Given the description of an element on the screen output the (x, y) to click on. 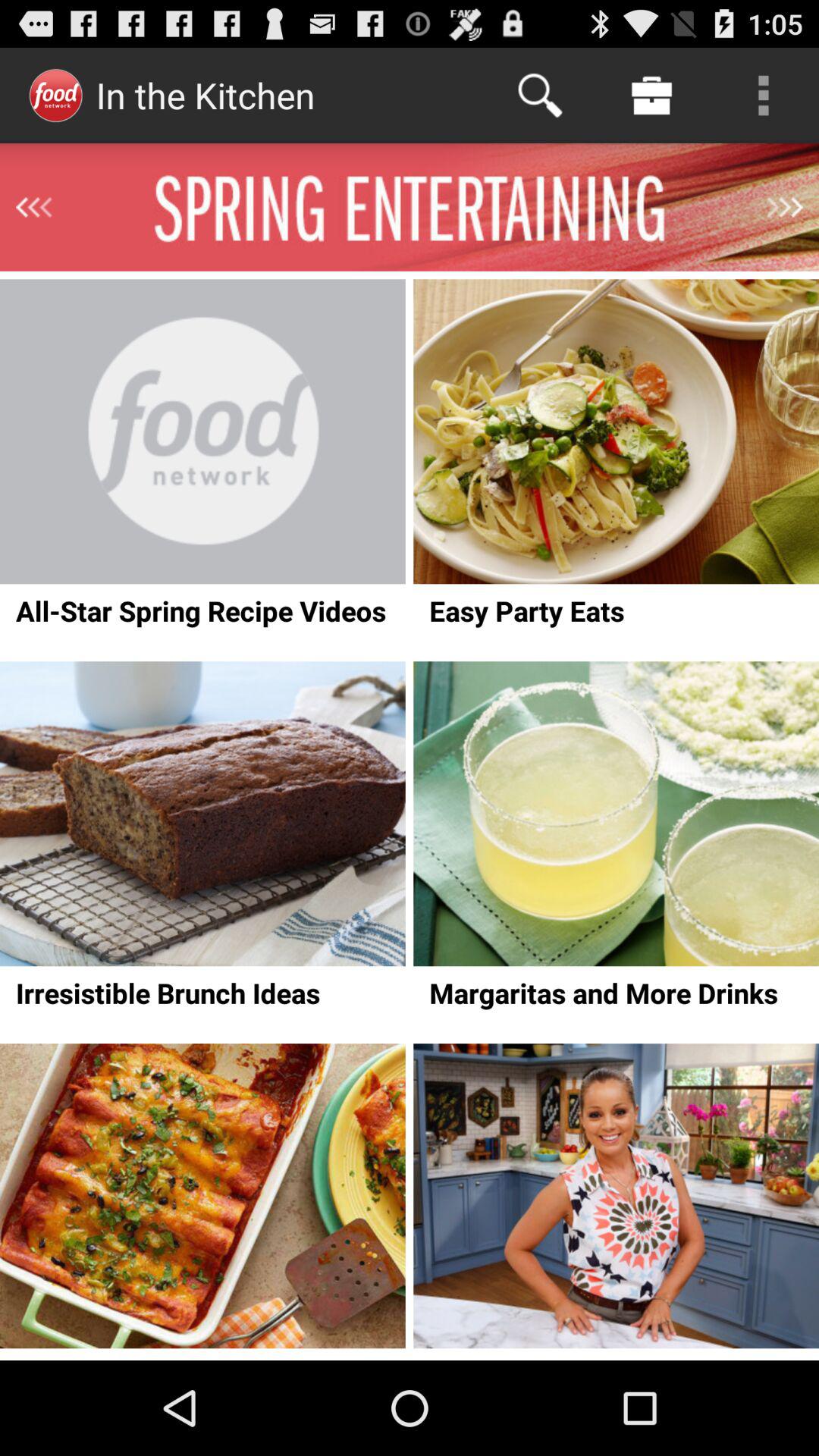
next page (785, 207)
